Given the description of an element on the screen output the (x, y) to click on. 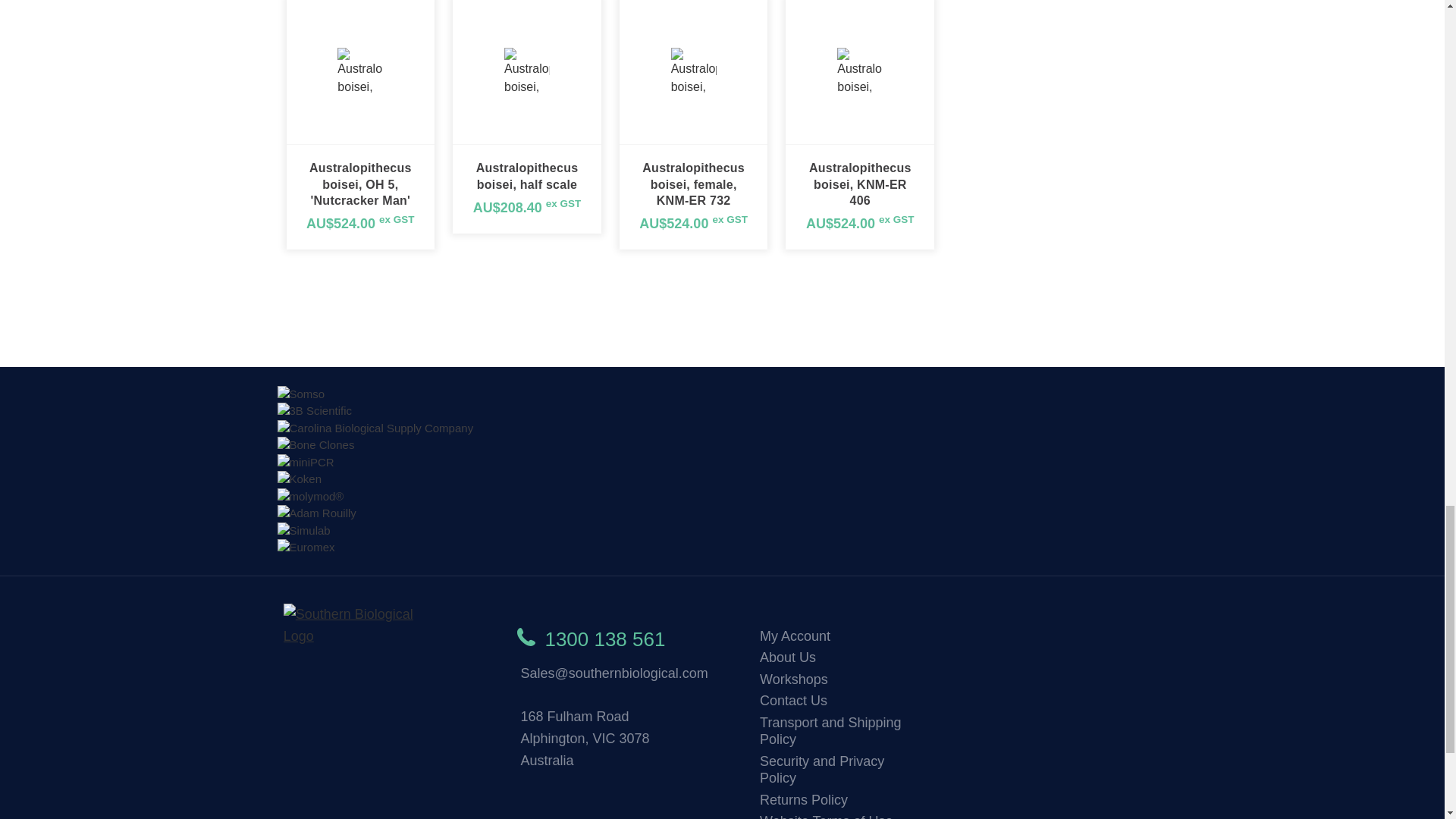
Australopithecus boisei, KNM-ER 406 (859, 70)
Australopithecus boisei, female, KNM-ER 732 (693, 70)
Australopithecus boisei, OH 5, 'Nutcracker Man' (359, 70)
Australopithecus boisei, half scale (526, 70)
